Given the description of an element on the screen output the (x, y) to click on. 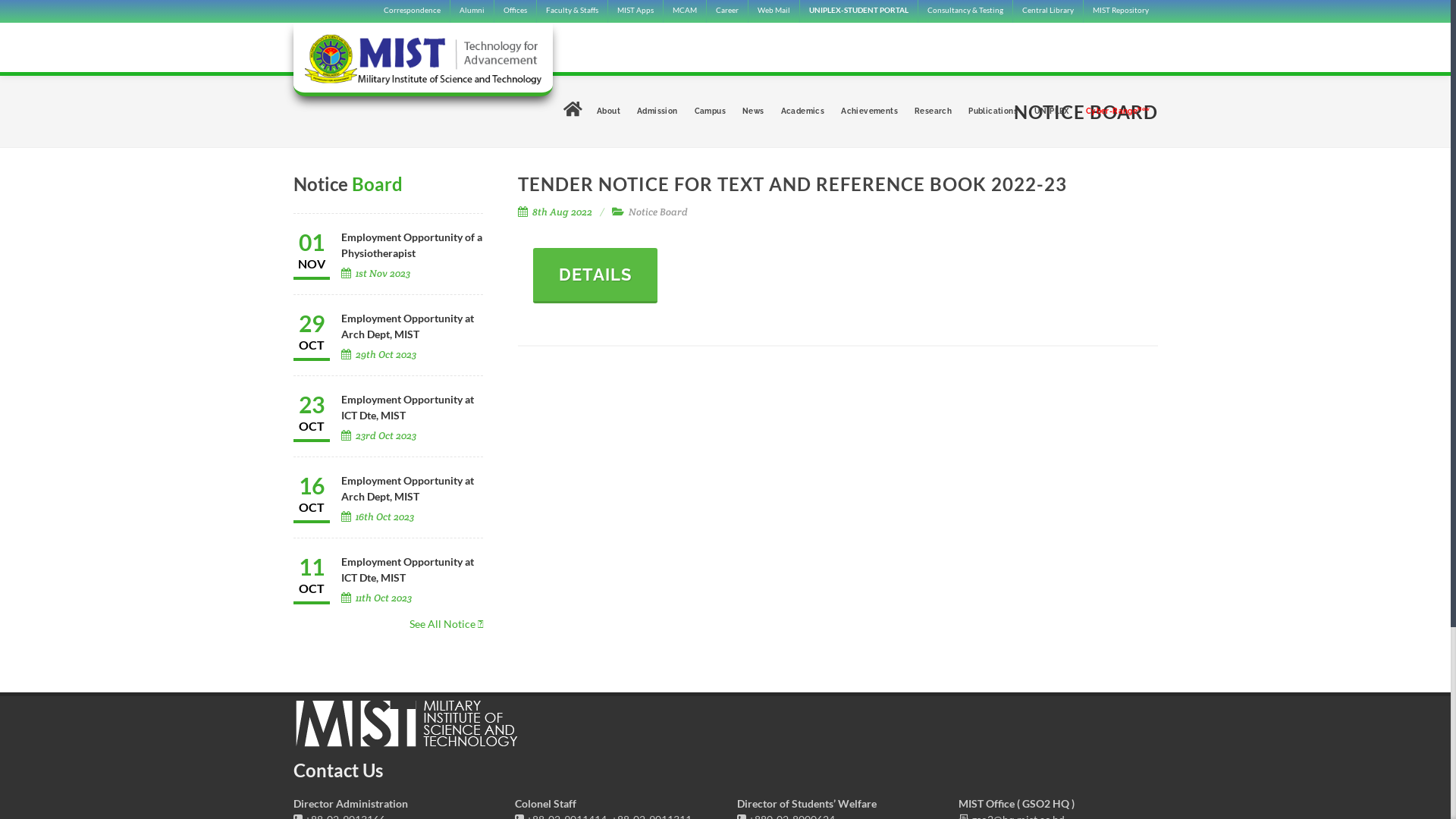
Central Library Element type: text (1047, 11)
About Element type: text (608, 110)
Cyber-Range Element type: text (1117, 110)
Academics Element type: text (802, 110)
MIST Apps Element type: text (635, 11)
Employment Opportunity at Arch Dept, MIST Element type: text (407, 487)
Campus Element type: text (710, 110)
Notice Board Element type: text (657, 211)
Employment Opportunity at ICT Dte, MIST Element type: text (407, 406)
DETAILS Element type: text (595, 275)
Offices Element type: text (515, 11)
MIST Repository Element type: text (1119, 11)
Notice Board Element type: text (387, 183)
Web Mail Element type: text (772, 11)
Employment Opportunity at ICT Dte, MIST Element type: text (407, 569)
Faculty & Staffs Element type: text (571, 11)
Career Element type: text (726, 11)
Admission Element type: text (657, 110)
Achievements Element type: text (869, 110)
MCAM Element type: text (683, 11)
Alumni Element type: text (471, 11)
Employment Opportunity of a Physiotherapist Element type: text (411, 244)
UNIPLEX Element type: text (1051, 110)
Research Element type: text (932, 110)
Publications Element type: text (992, 110)
Employment Opportunity at Arch Dept, MIST Element type: text (407, 325)
UNIPLEX-STUDENT PORTAL Element type: text (857, 11)
News Element type: text (752, 110)
Correspondence Element type: text (411, 11)
Consultancy & Testing Element type: text (964, 11)
